Given the description of an element on the screen output the (x, y) to click on. 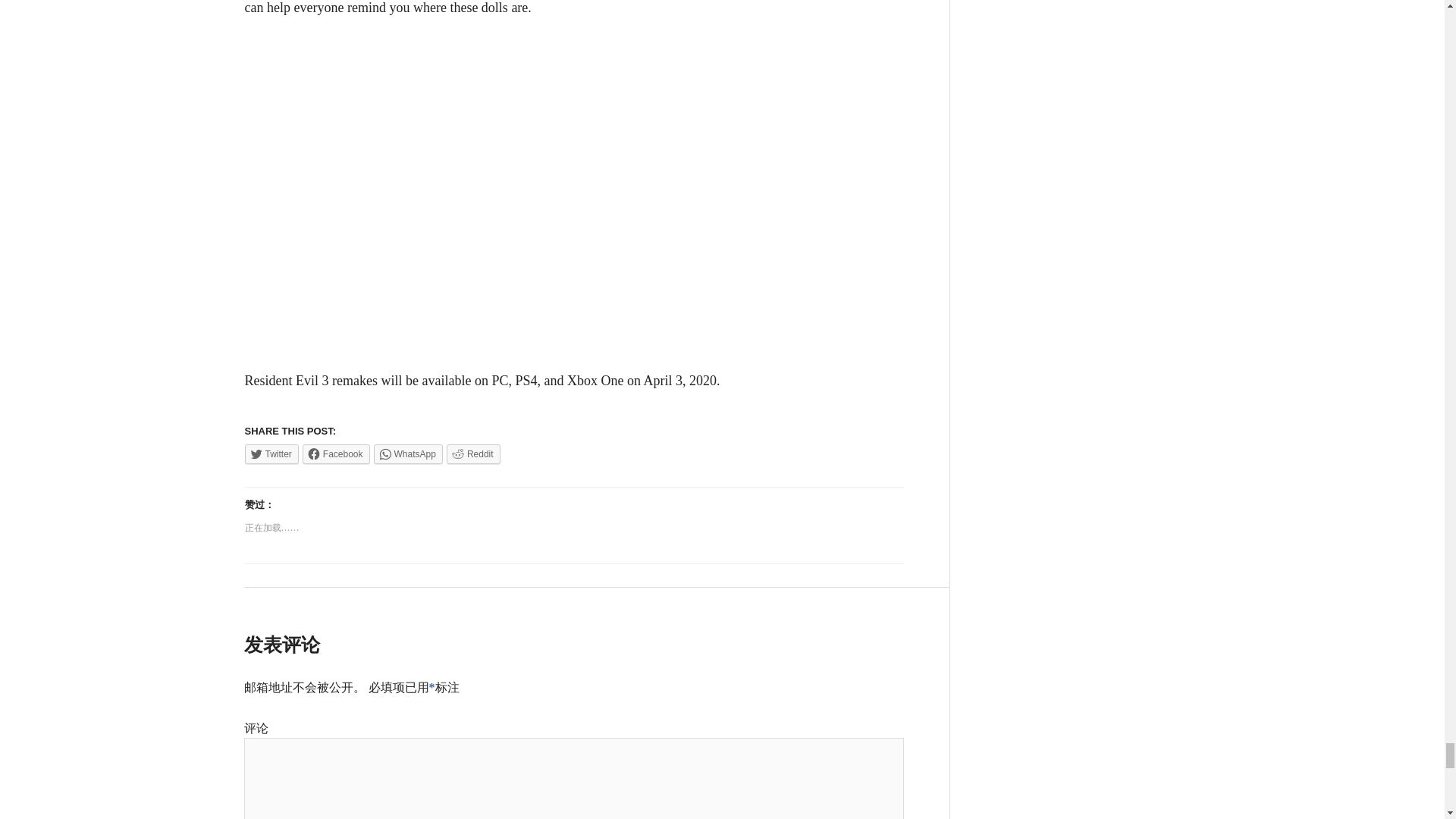
Reddit (473, 454)
WhatsApp (408, 454)
Facebook (335, 454)
Twitter (271, 454)
